Given the description of an element on the screen output the (x, y) to click on. 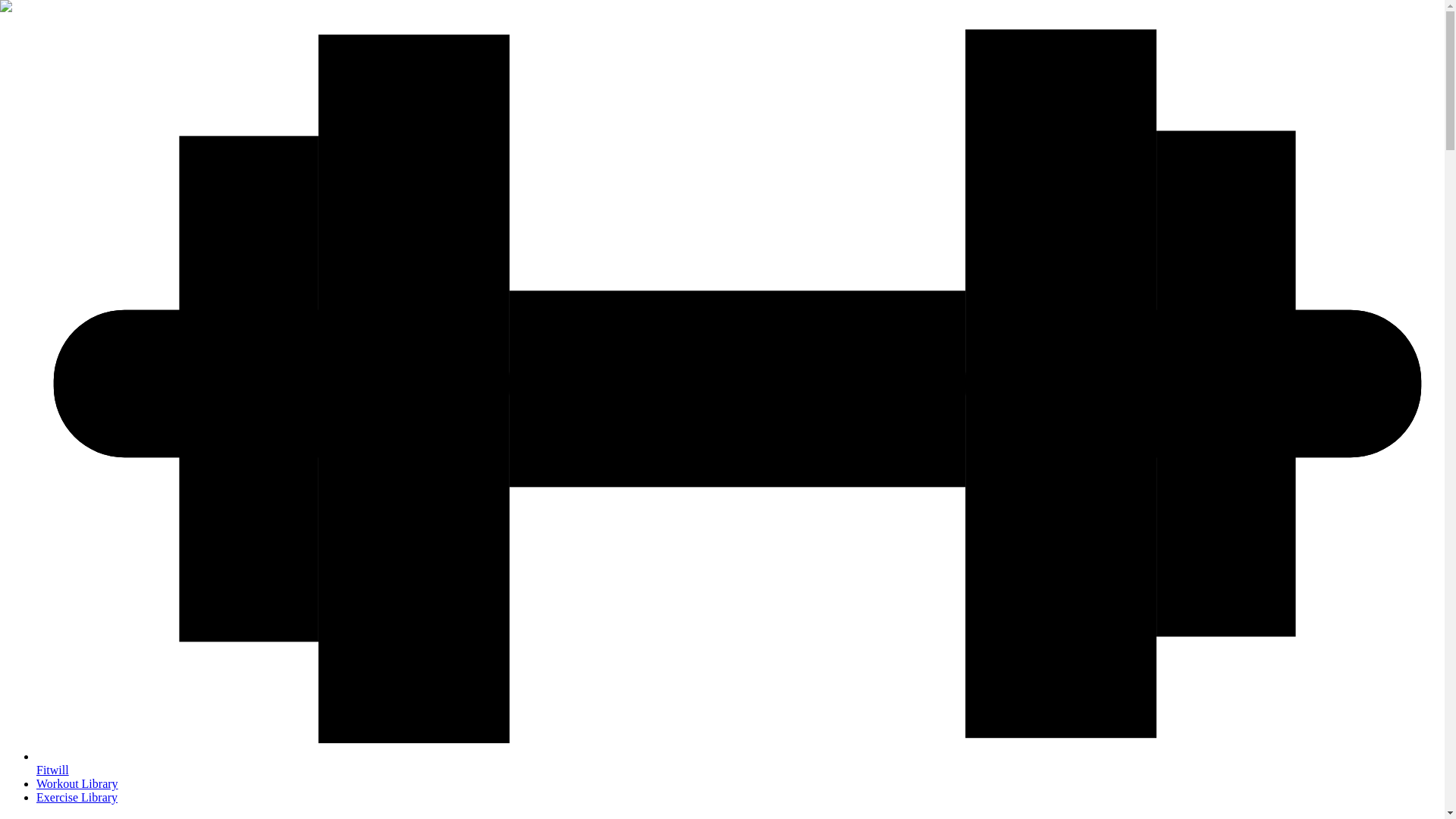
Exercise Library (76, 797)
Workout Library (76, 783)
